Given the description of an element on the screen output the (x, y) to click on. 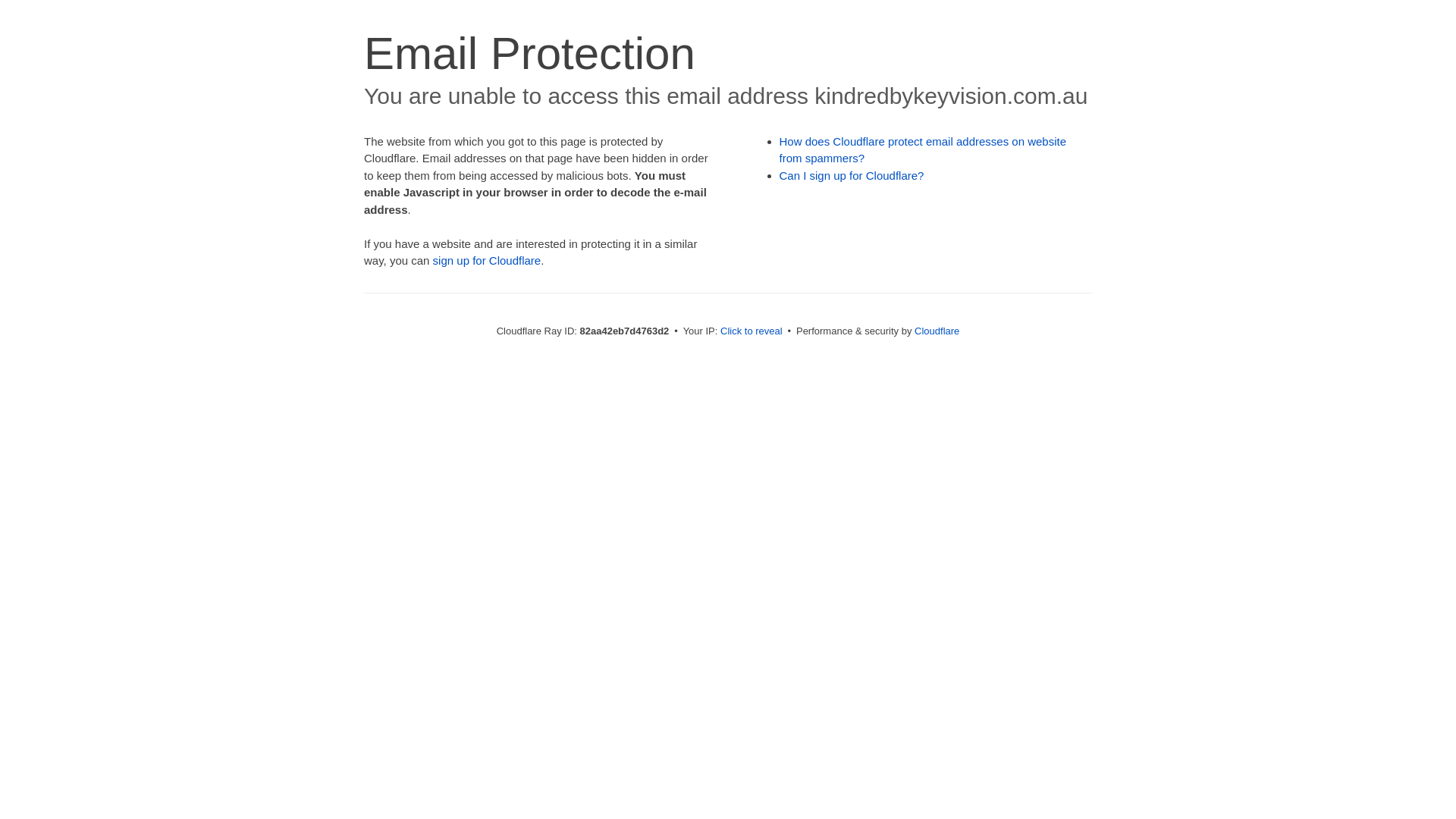
Can I sign up for Cloudflare? Element type: text (851, 175)
sign up for Cloudflare Element type: text (487, 260)
Click to reveal Element type: text (751, 330)
Cloudflare Element type: text (936, 330)
